Given the description of an element on the screen output the (x, y) to click on. 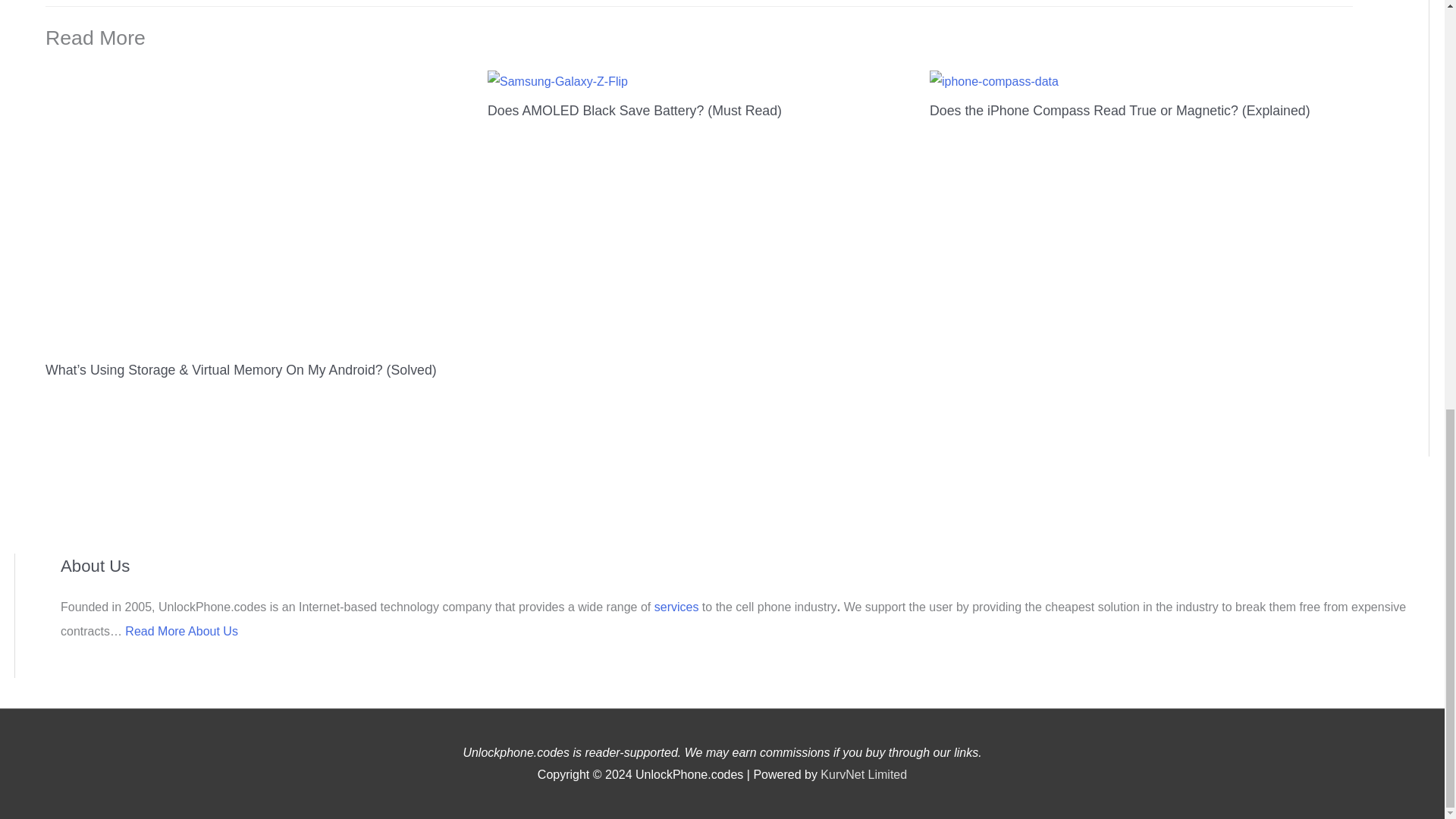
services  (677, 606)
KurvNet Limited (864, 774)
Read More About Us (181, 631)
